Given the description of an element on the screen output the (x, y) to click on. 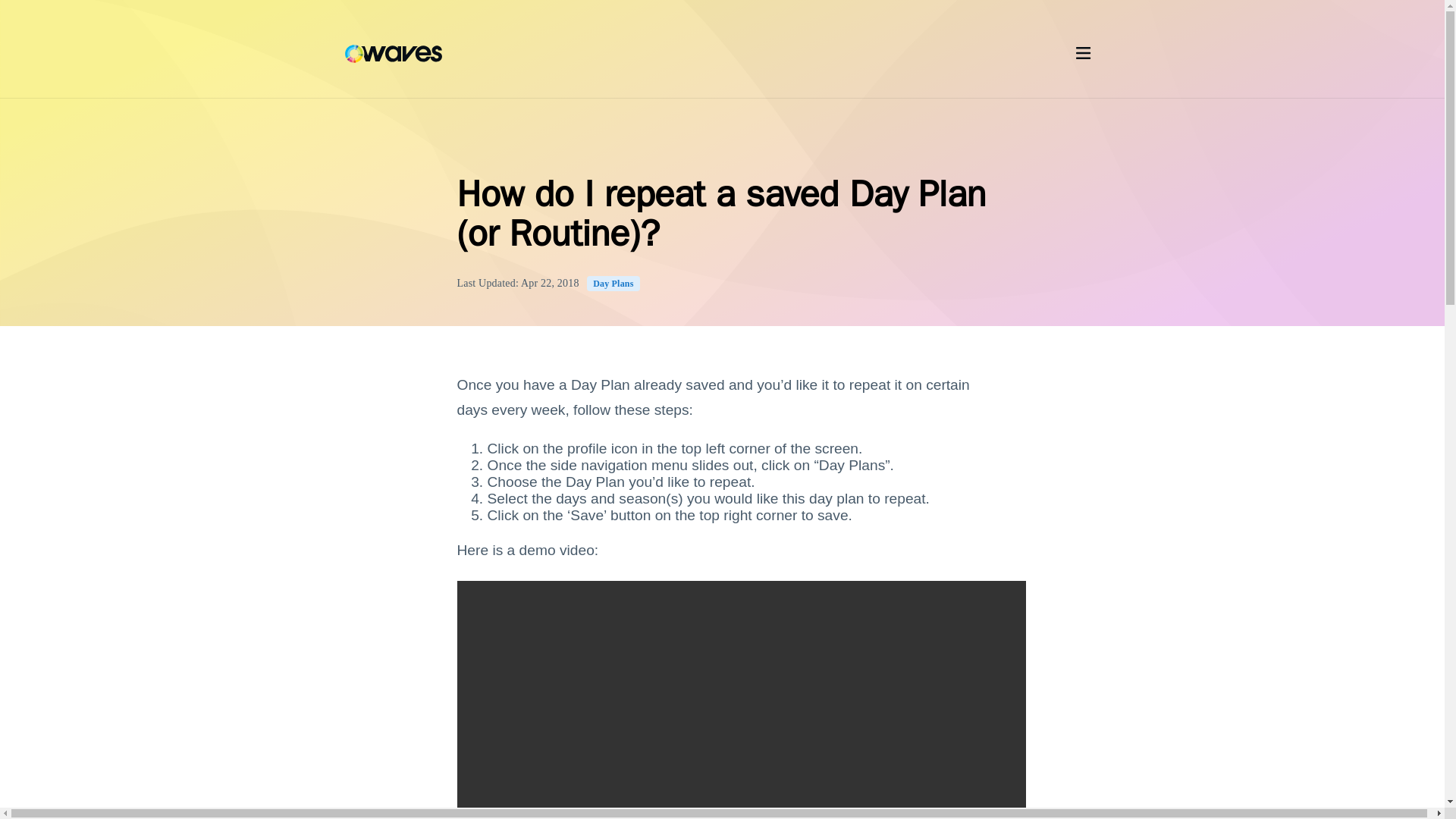
Day Plans (612, 283)
